Given the description of an element on the screen output the (x, y) to click on. 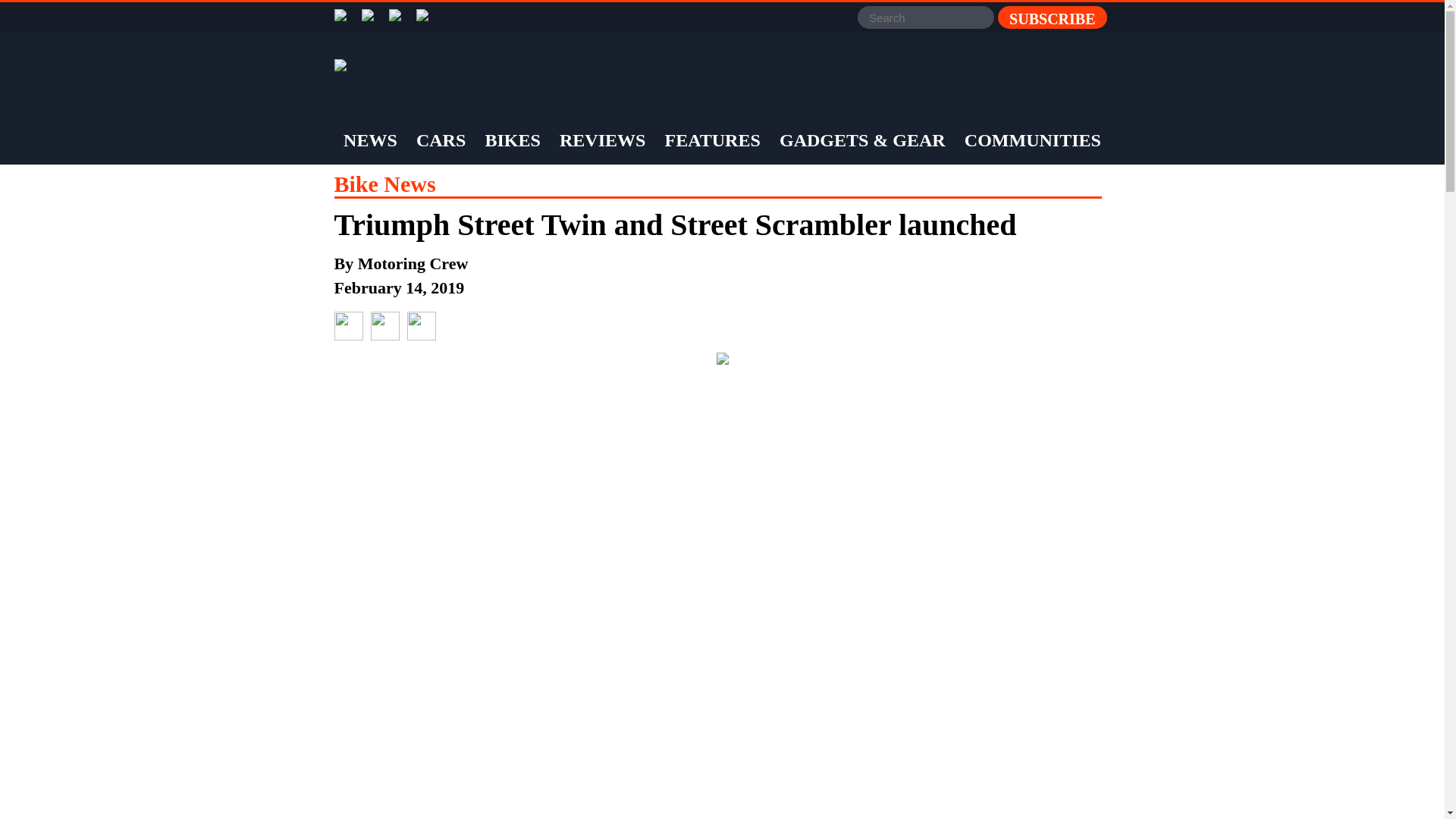
FEATURES (712, 140)
Motoring Crew (413, 262)
BIKES (511, 140)
COMMUNITIES (1032, 140)
Posts by Motoring Crew (413, 262)
REVIEWS (602, 140)
CARS (440, 140)
SUBSCRIBE (1051, 16)
NEWS (370, 140)
Bike News (384, 183)
